Given the description of an element on the screen output the (x, y) to click on. 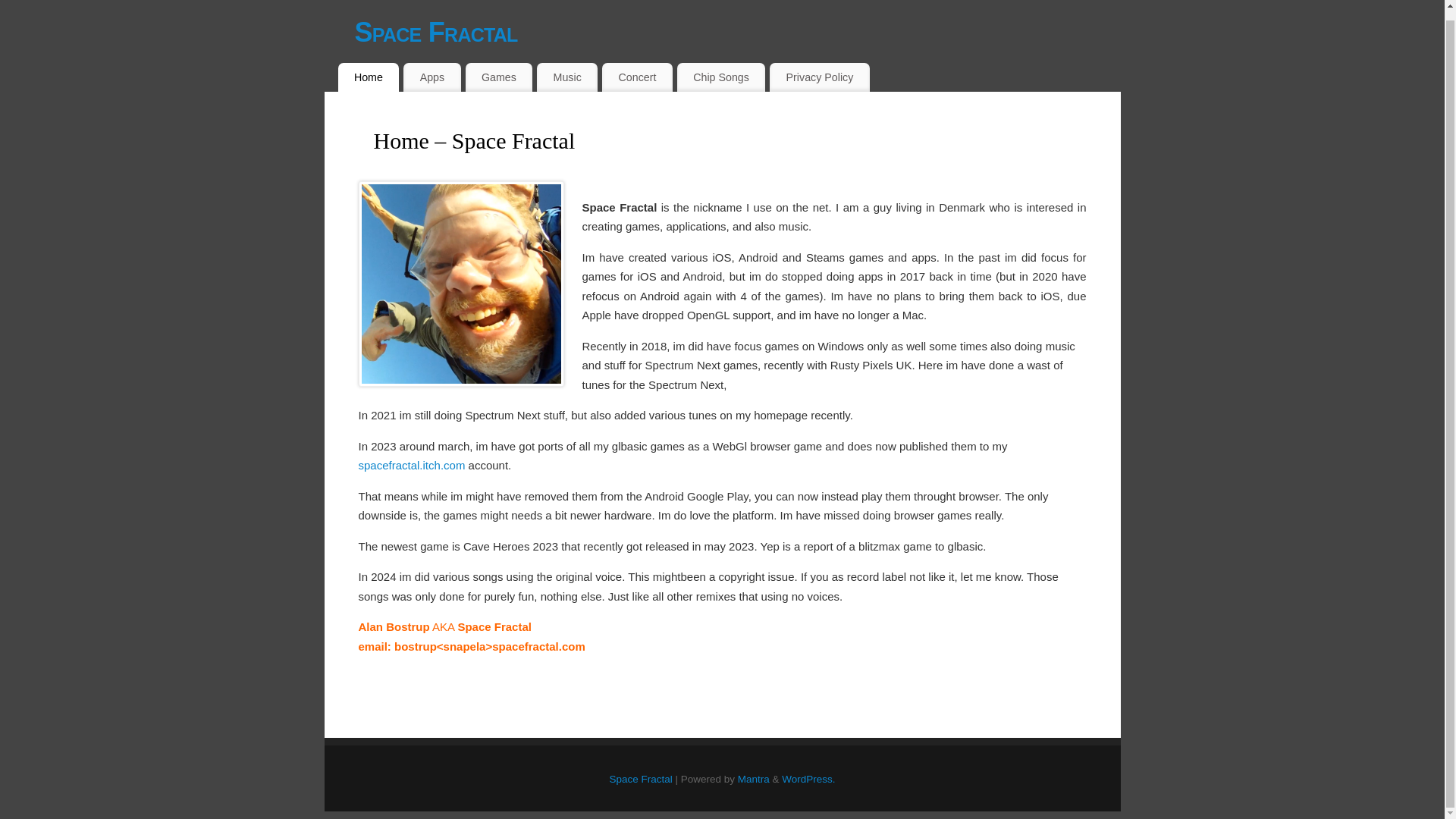
Concert (637, 77)
Space Fractal (738, 32)
Mantra Theme by Cryout Creations (754, 778)
Apps (431, 77)
Semantic Personal Publishing Platform (807, 778)
Chip Songs (721, 77)
Space Fractal (738, 32)
Music (566, 77)
Space Fractal (639, 778)
Games (498, 77)
